Given the description of an element on the screen output the (x, y) to click on. 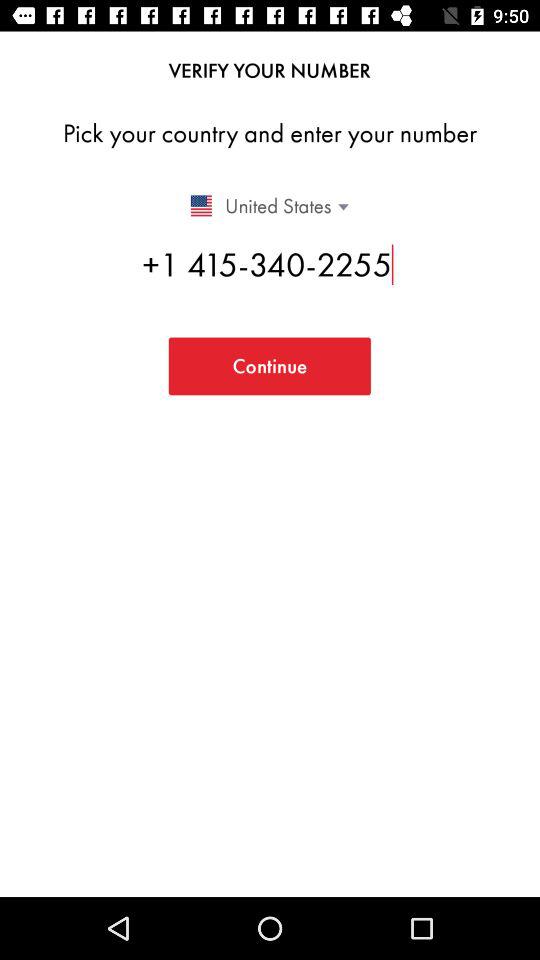
launch the icon below united states (269, 264)
